Given the description of an element on the screen output the (x, y) to click on. 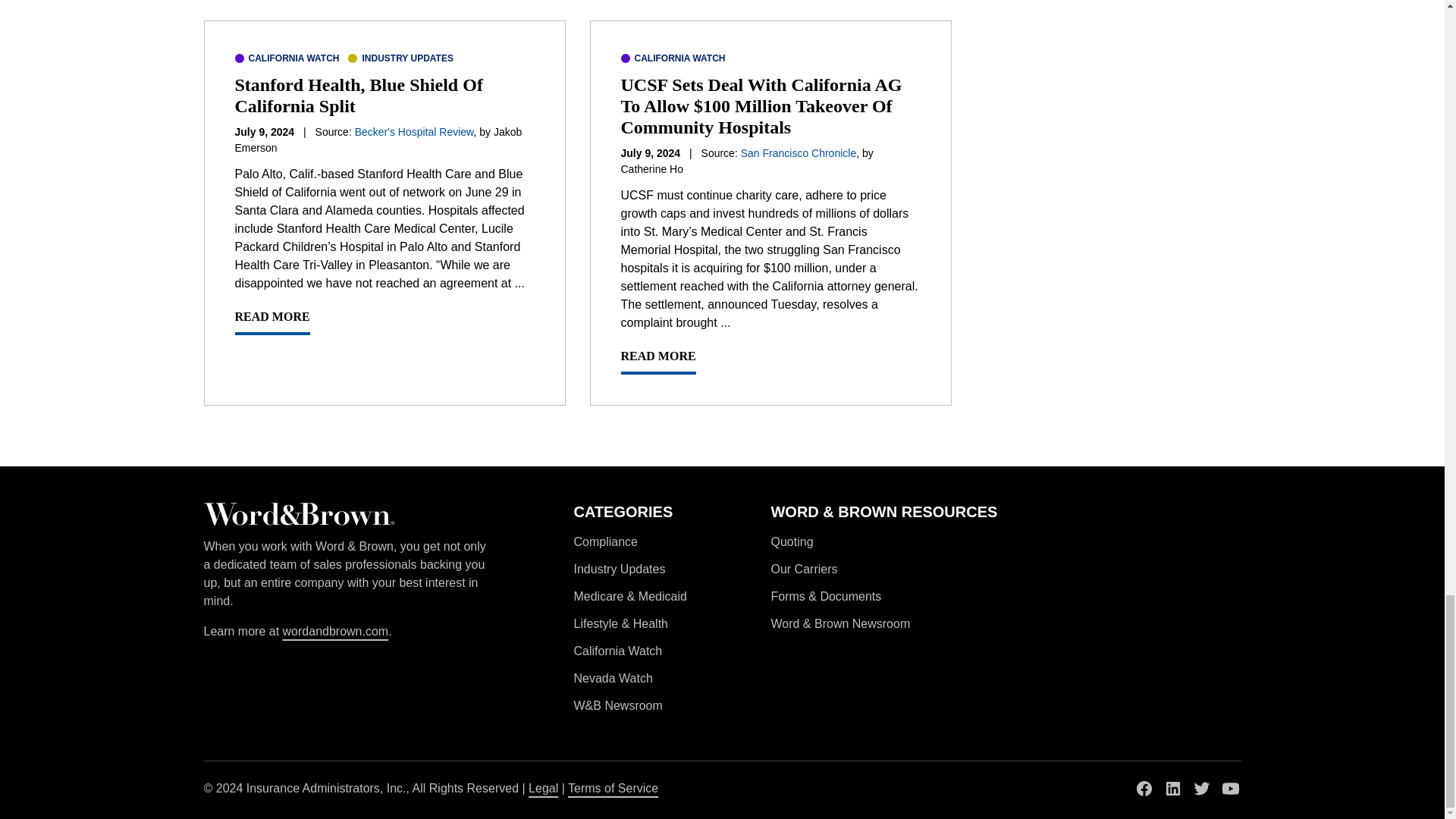
READ MORE (272, 320)
CALIFORNIA WATCH (286, 58)
CALIFORNIA WATCH (672, 58)
Stanford Health, Blue Shield Of California Split (358, 95)
San Francisco Chronicle (799, 152)
READ MORE (657, 360)
Becker's Hospital Review (414, 132)
INDUSTRY UPDATES (399, 58)
